Given the description of an element on the screen output the (x, y) to click on. 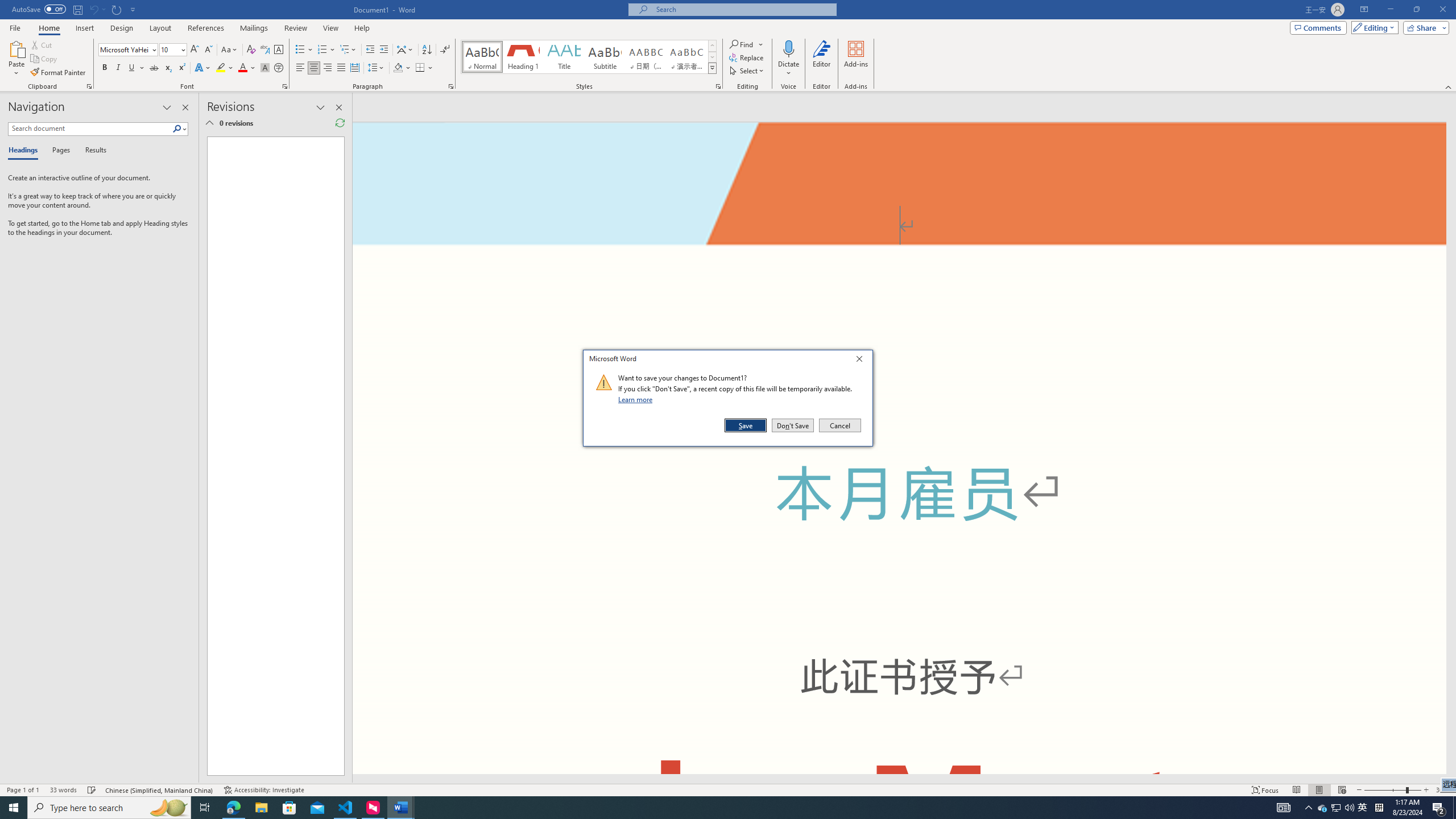
File Explorer (261, 807)
Can't Undo (92, 9)
Learn more (636, 399)
Tray Input Indicator - Chinese (Simplified, China) (1378, 807)
